Given the description of an element on the screen output the (x, y) to click on. 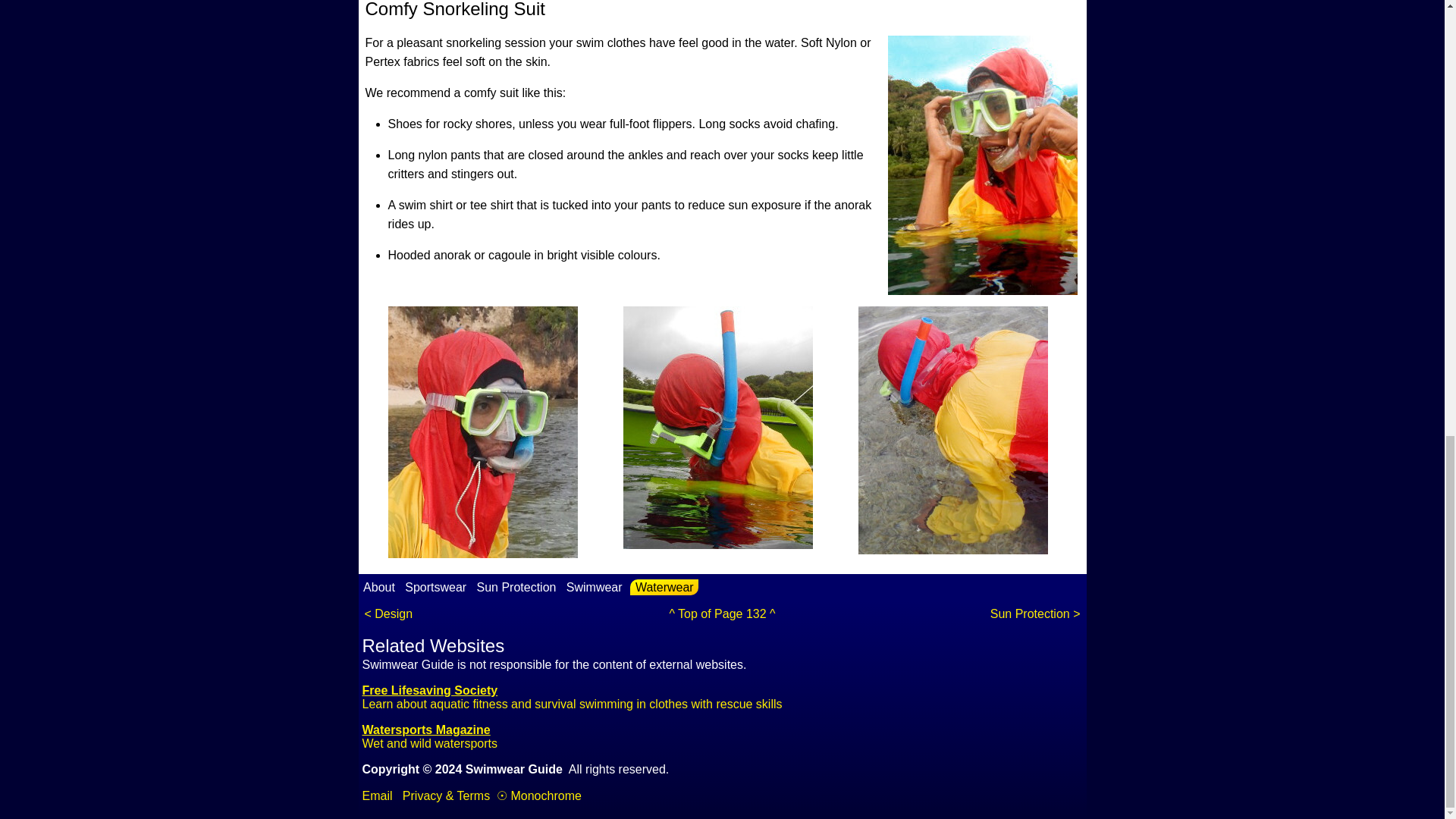
 About  (379, 586)
 Sun Protection  (516, 586)
Waterwear brings you convenience, warmth, and sun protection (664, 587)
 Waterwear  (664, 587)
Find out all about being safe in the sun (516, 586)
Email (429, 736)
 Swimwear  (377, 795)
